Given the description of an element on the screen output the (x, y) to click on. 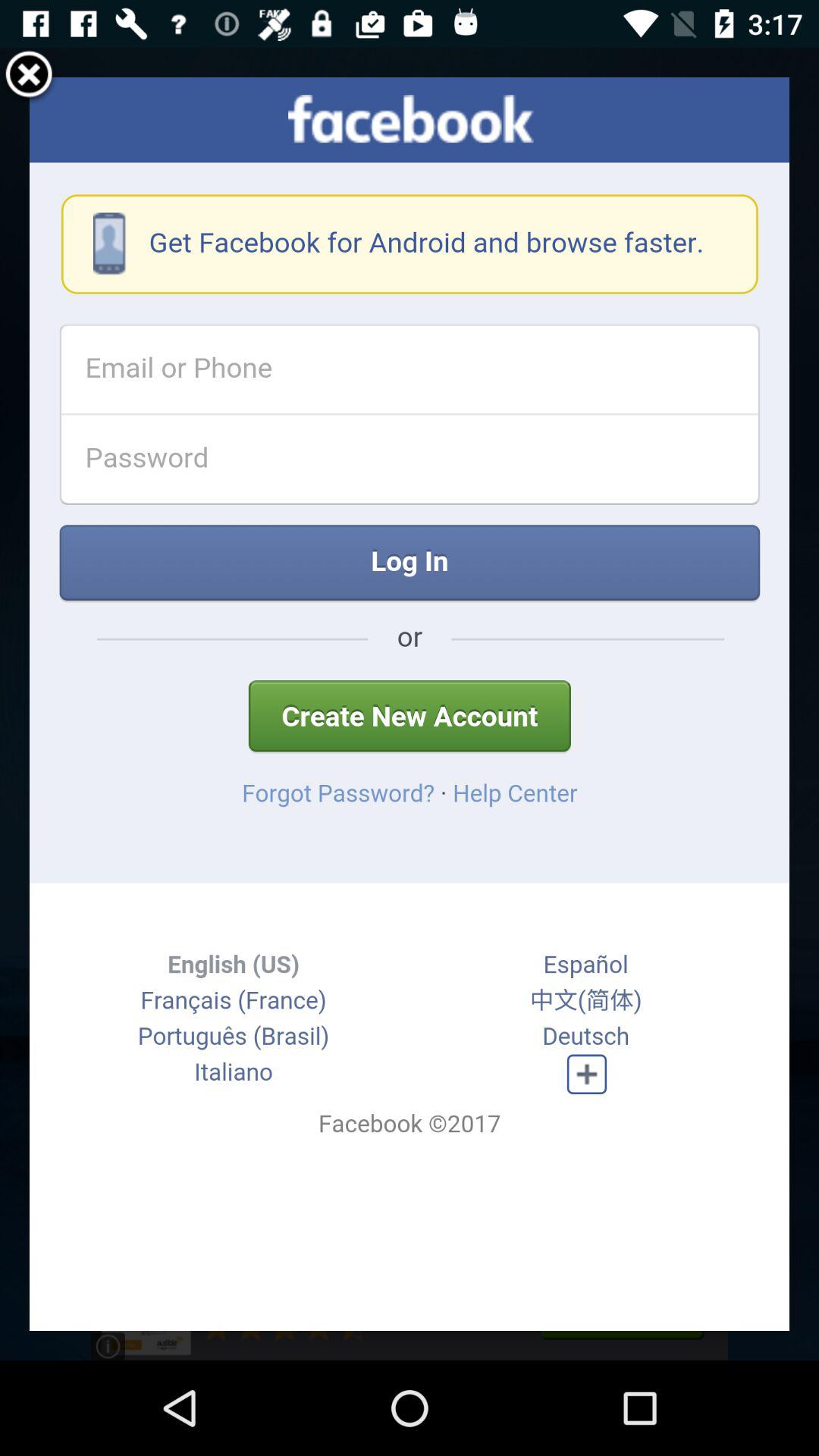
choose the item at the top left corner (29, 76)
